Given the description of an element on the screen output the (x, y) to click on. 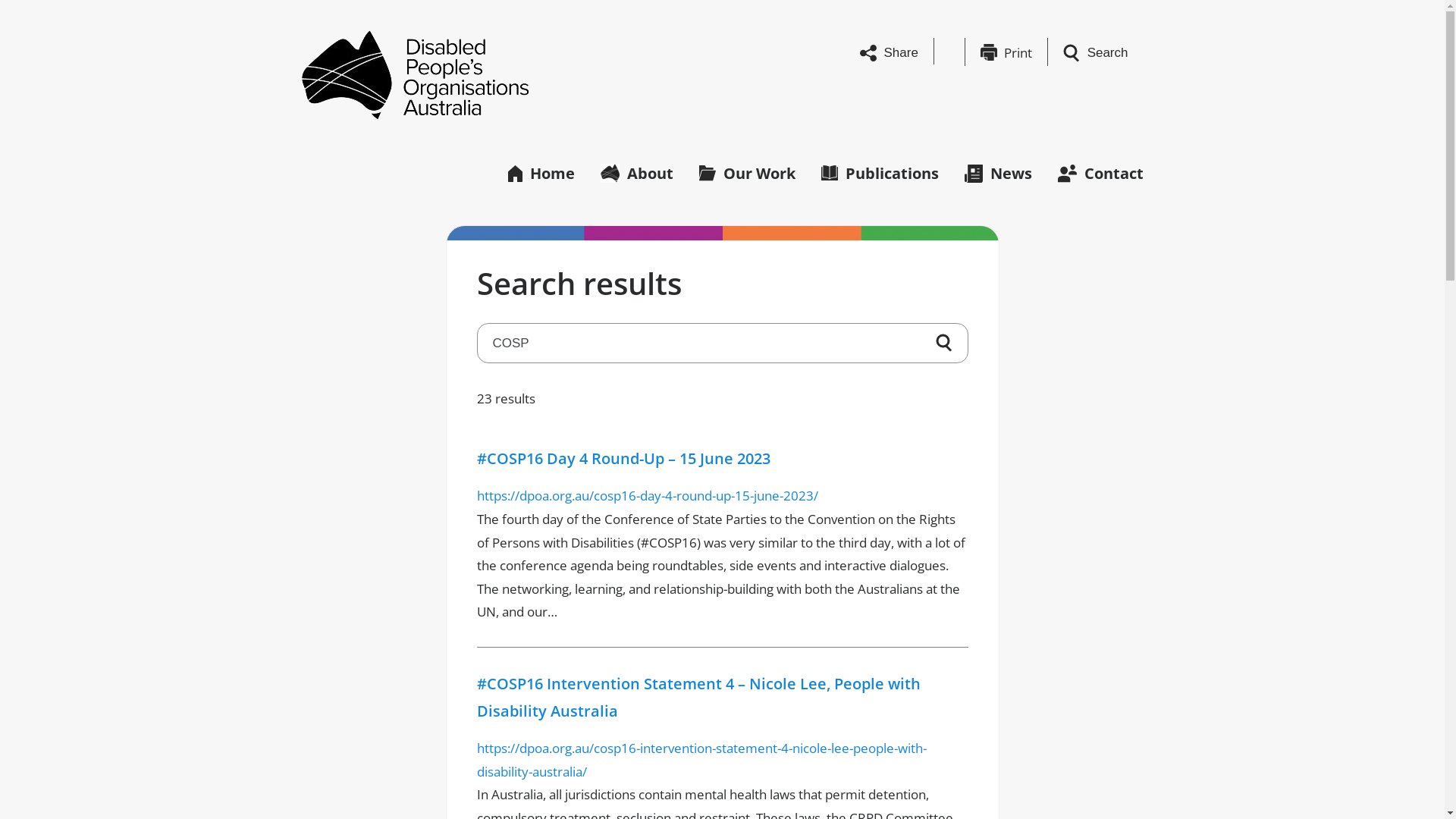
Our Work Element type: text (747, 171)
News Element type: text (998, 171)
Search Element type: text (1095, 51)
Submit Element type: text (944, 343)
Contact Element type: text (1099, 171)
https://dpoa.org.au/cosp16-day-4-round-up-15-june-2023/ Element type: text (646, 495)
Disabled People's Organisations Australia (DPO Australia) Element type: text (415, 73)
Share Element type: text (888, 51)
Home Element type: text (541, 171)
Publications Element type: text (879, 171)
Print Element type: text (1006, 50)
About Element type: text (636, 171)
